Given the description of an element on the screen output the (x, y) to click on. 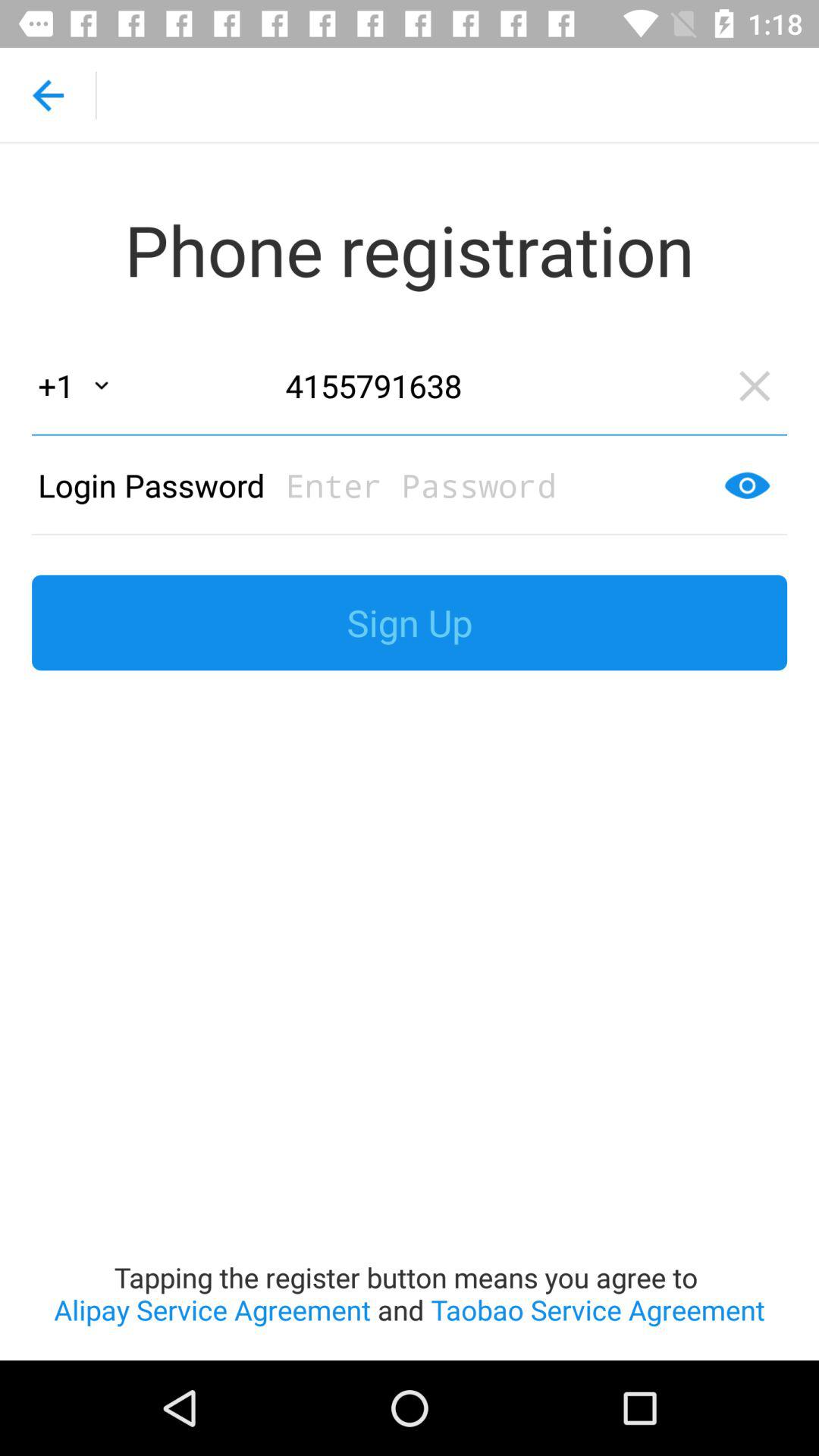
press the item below the phone registration icon (497, 385)
